Given the description of an element on the screen output the (x, y) to click on. 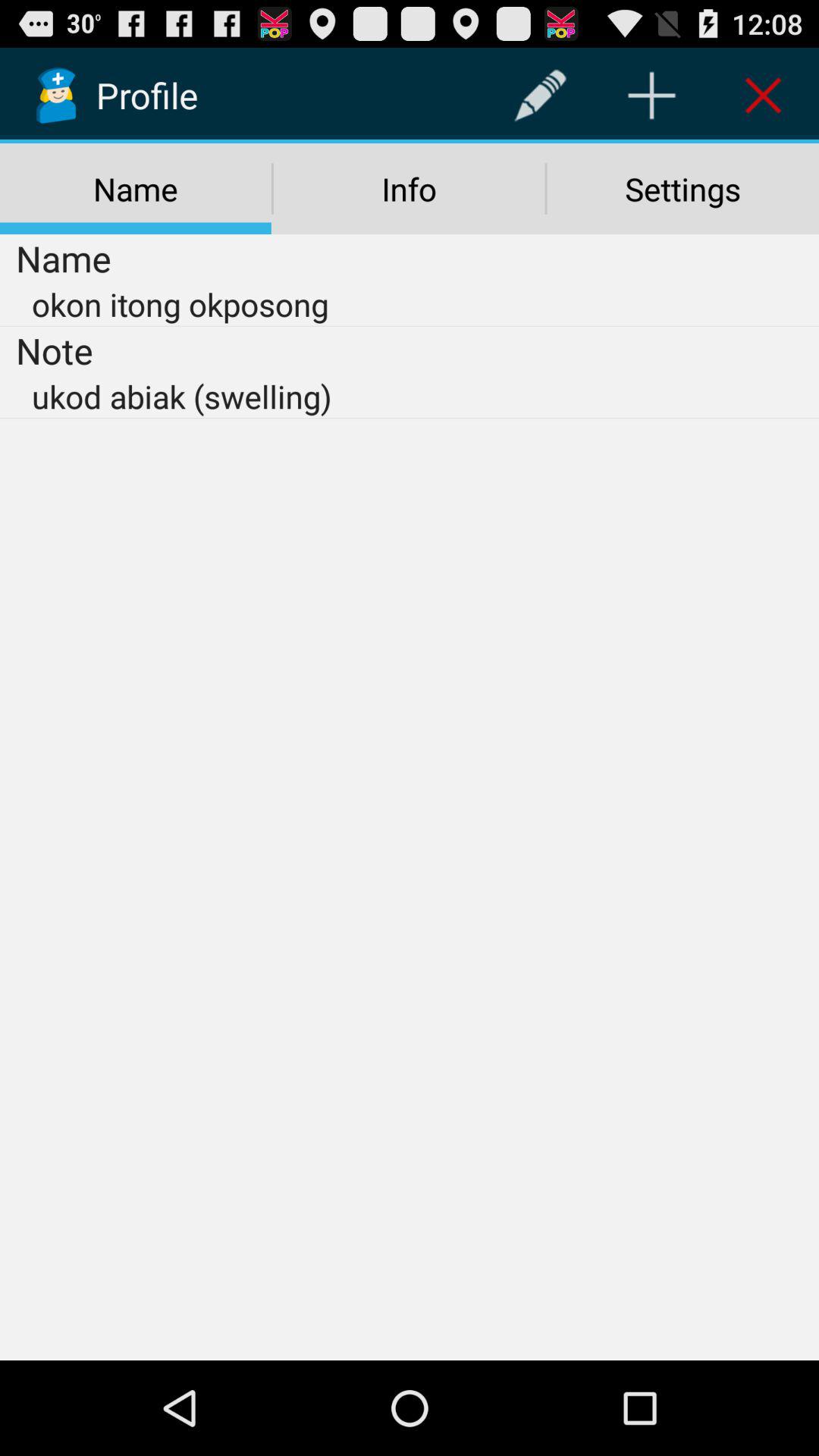
tap the item next to name icon (408, 188)
